Given the description of an element on the screen output the (x, y) to click on. 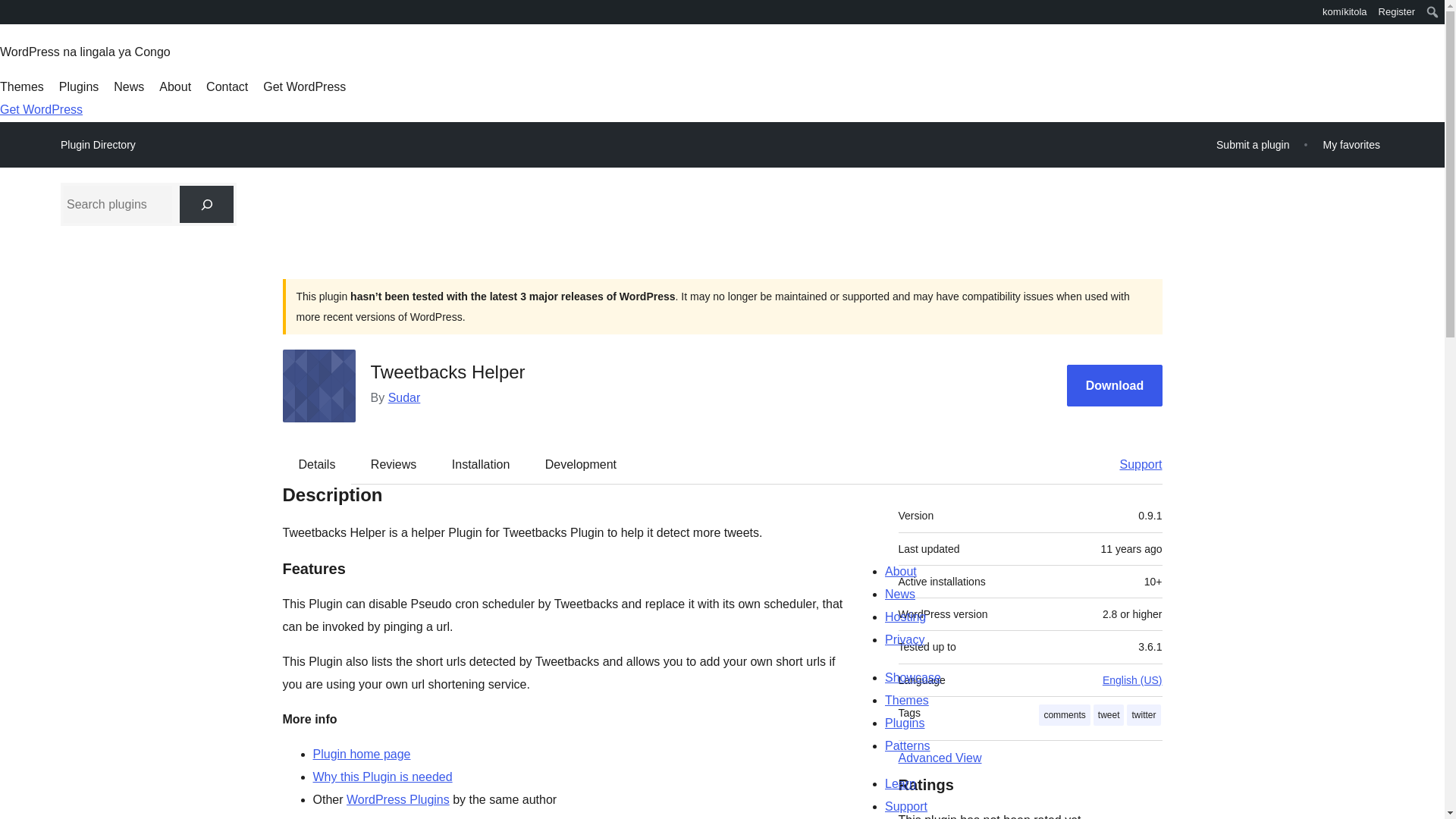
Download (1114, 385)
Why this Plugin is needed (382, 776)
WordPress Plugins (397, 799)
Search (16, 13)
About (174, 87)
Development (580, 464)
Details (316, 464)
Submit a plugin (1253, 144)
Sudar (404, 397)
Contact (226, 87)
